Given the description of an element on the screen output the (x, y) to click on. 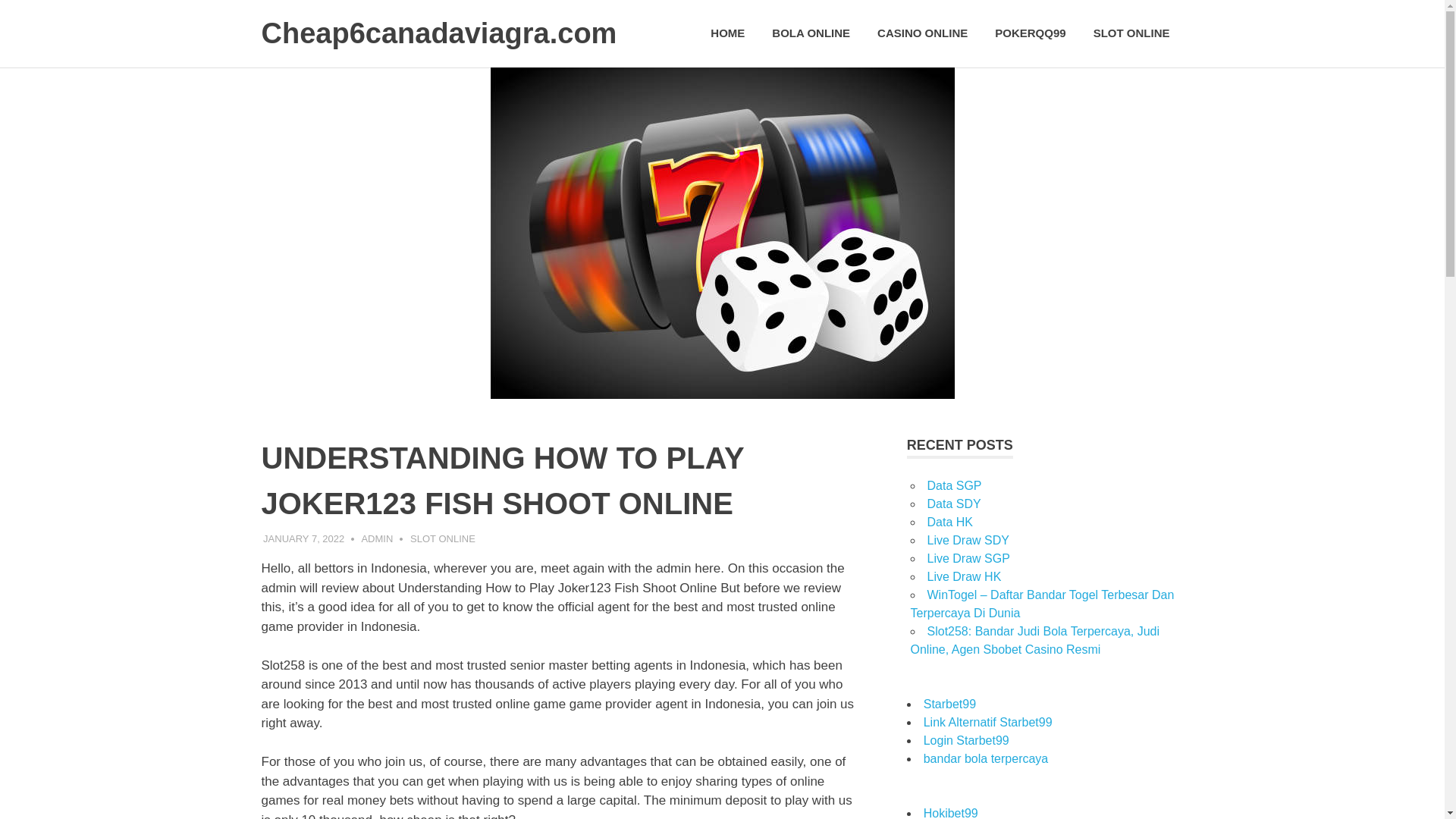
Login Starbet99 (966, 739)
BOLA ONLINE (810, 33)
CASINO ONLINE (922, 33)
Live Draw SGP (967, 558)
Live Draw HK (963, 576)
Data HK (949, 521)
JANUARY 7, 2022 (303, 537)
ADMIN (377, 537)
HOME (727, 33)
SLOT ONLINE (1131, 33)
View all posts by Admin (377, 537)
Live Draw SDY (967, 540)
Cheap6canadaviagra.com (437, 33)
Link Alternatif Starbet99 (987, 721)
